Given the description of an element on the screen output the (x, y) to click on. 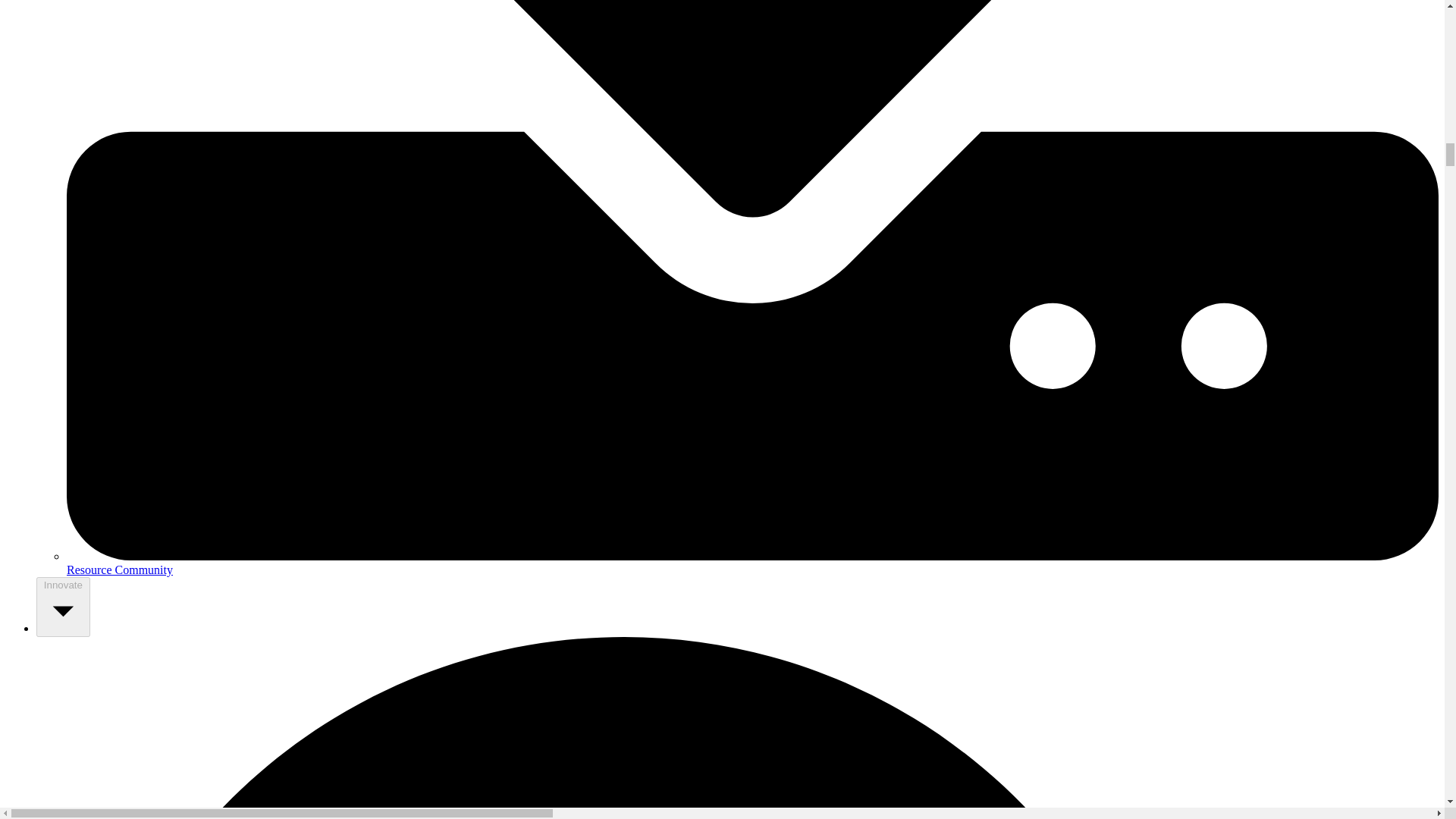
Innovate (63, 607)
